Given the description of an element on the screen output the (x, y) to click on. 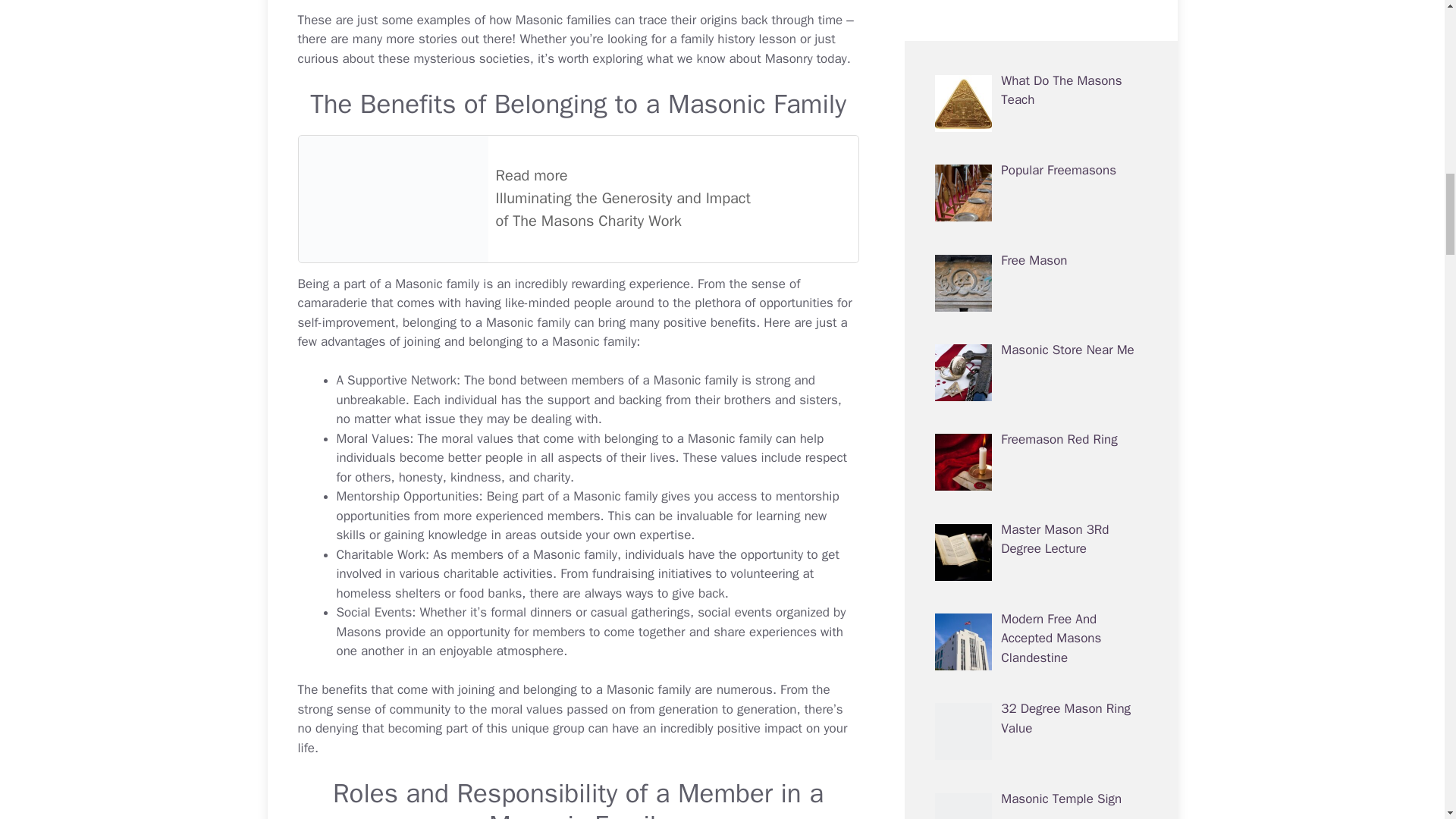
joining (422, 341)
Masonic family (436, 283)
Masons (358, 631)
Masonic Family (577, 813)
Masonic family (436, 283)
How To Join The Masons (422, 341)
Masonic Family (756, 103)
